Given the description of an element on the screen output the (x, y) to click on. 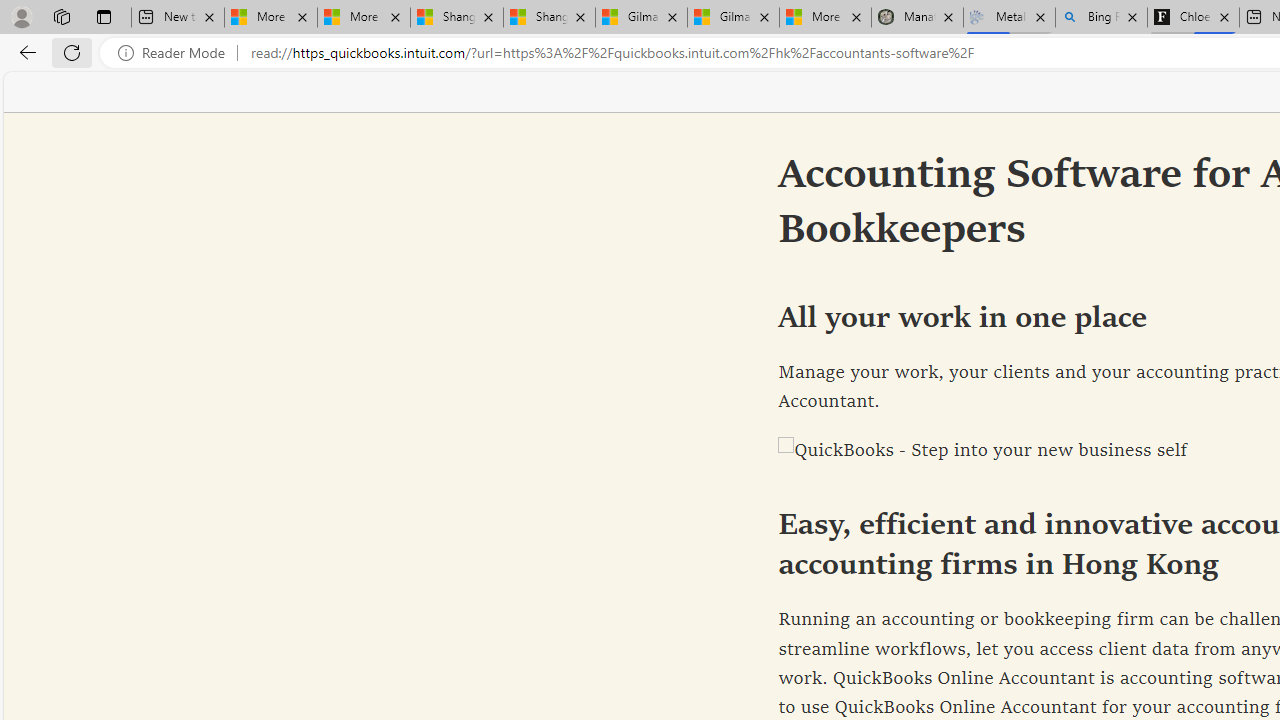
Shanghai, China weather forecast | Microsoft Weather (549, 17)
Bing Real Estate - Home sales and rental listings (1101, 17)
Chloe Sorvino (1193, 17)
Gilma and Hector both pose tropical trouble for Hawaii (733, 17)
Reader Mode (177, 53)
Manatee Mortality Statistics | FWC (916, 17)
